Given the description of an element on the screen output the (x, y) to click on. 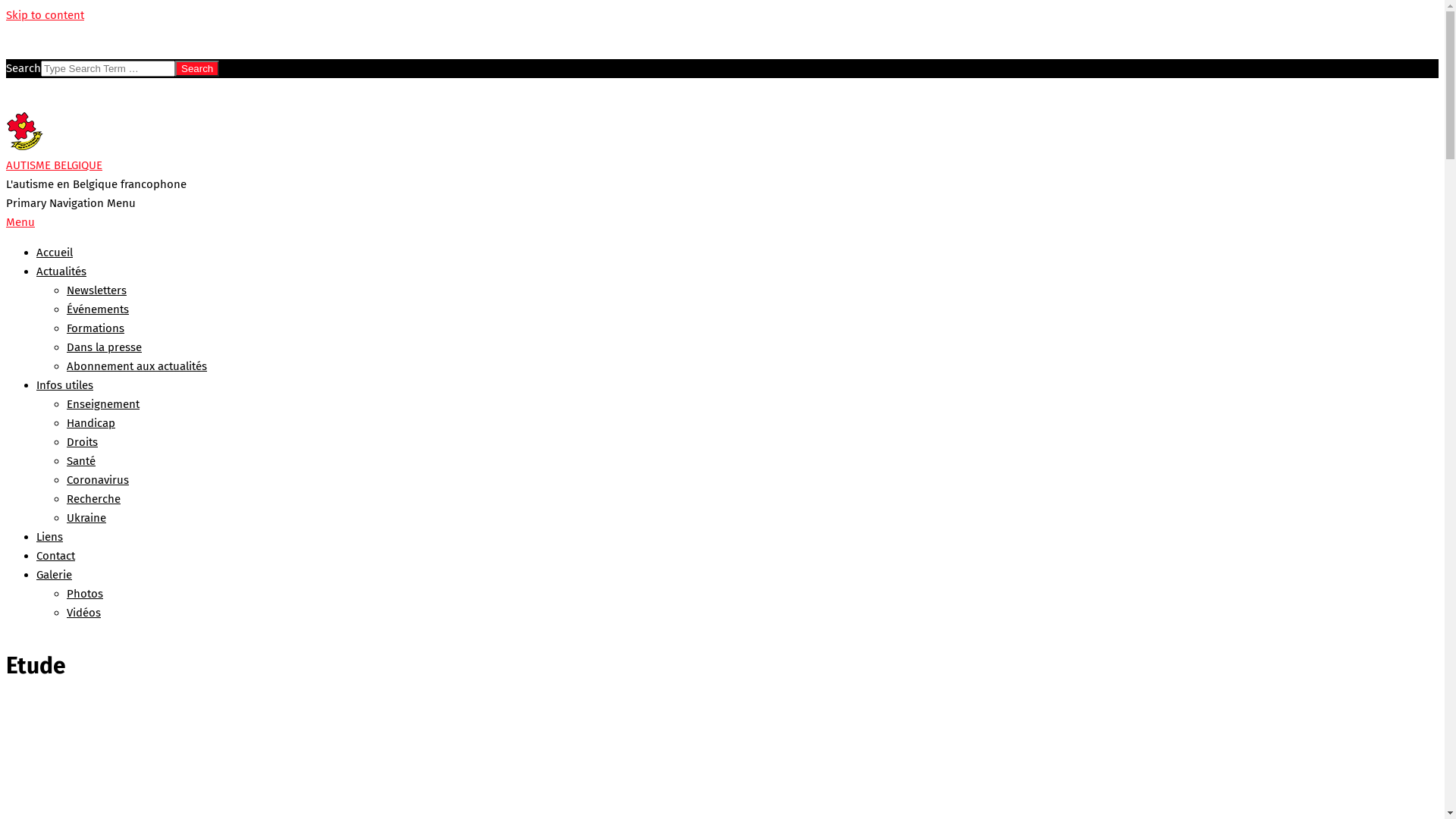
Droits Element type: text (81, 441)
Photos Element type: text (84, 593)
Recherche Element type: text (93, 498)
Ukraine Element type: text (86, 517)
Infos utiles Element type: text (64, 385)
Dans la presse Element type: text (103, 347)
Formations Element type: text (95, 328)
Liens Element type: text (49, 536)
Newsletters Element type: text (96, 290)
Coronavirus Element type: text (97, 479)
Galerie Element type: text (54, 574)
AUTISME BELGIQUE Element type: text (54, 165)
Handicap Element type: text (90, 422)
Accueil Element type: text (54, 252)
Skip to content Element type: text (45, 14)
Search Element type: text (197, 68)
Enseignement Element type: text (102, 404)
Menu Element type: text (20, 222)
Contact Element type: text (55, 555)
